Given the description of an element on the screen output the (x, y) to click on. 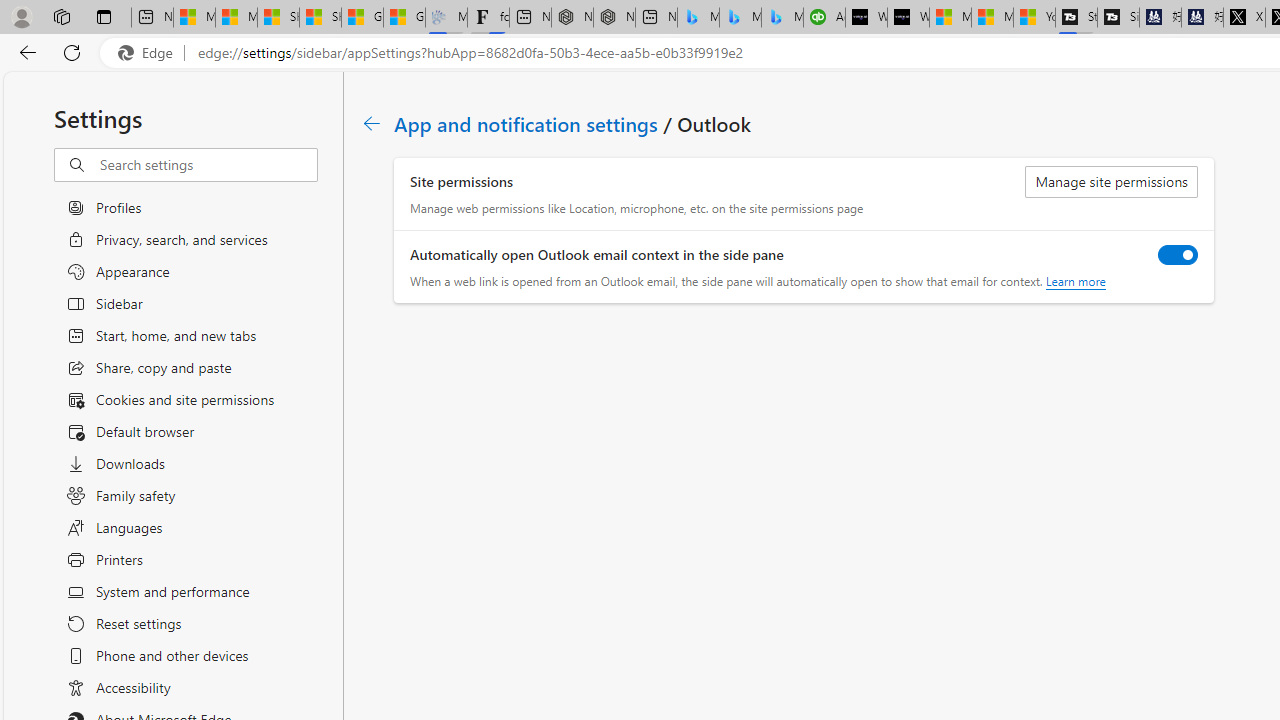
Learn more (1074, 281)
